Given the description of an element on the screen output the (x, y) to click on. 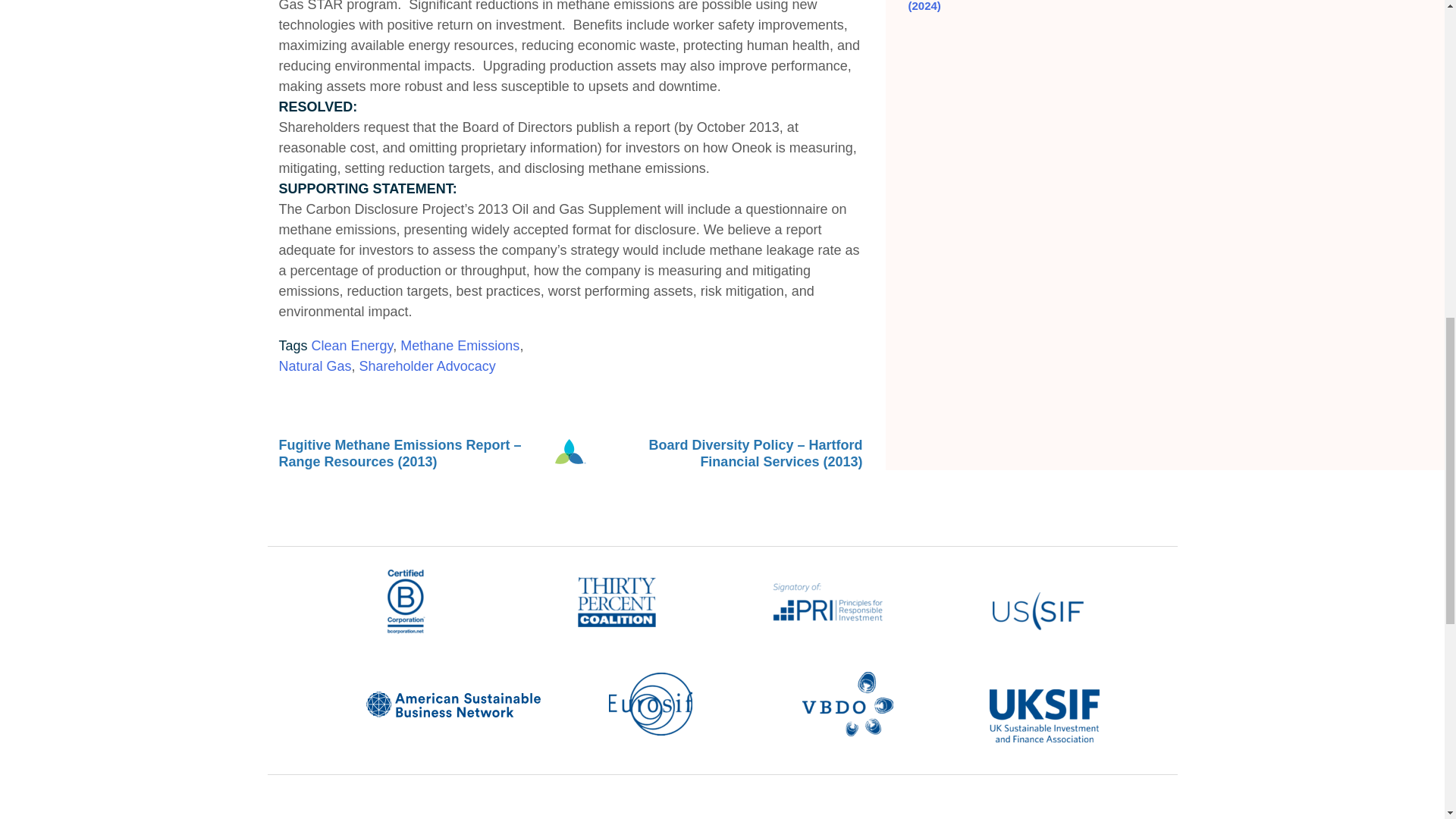
Clean Energy (352, 345)
Natural Gas (315, 365)
Shareholder Advocacy (427, 365)
Methane Emissions (459, 345)
